Given the description of an element on the screen output the (x, y) to click on. 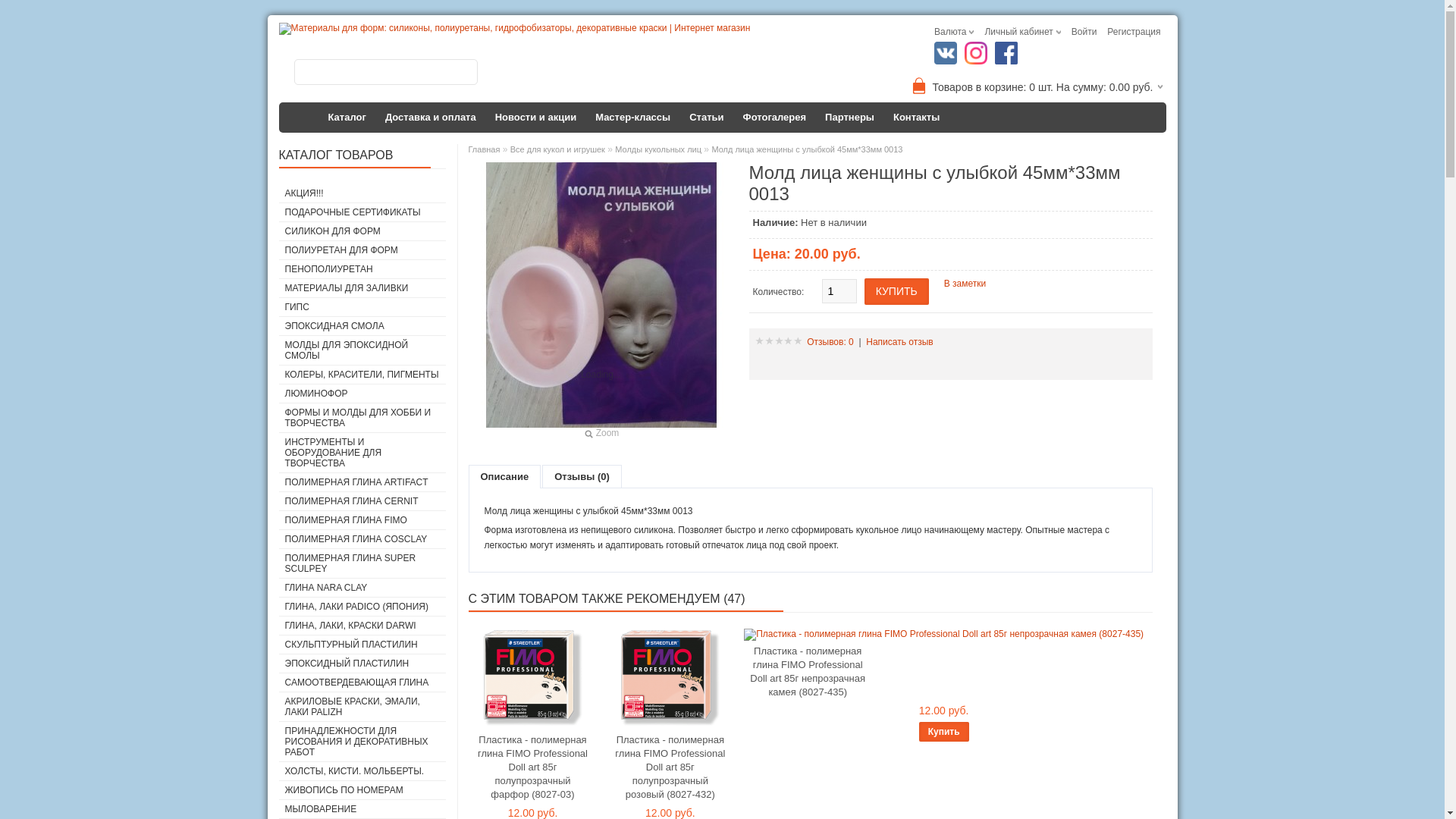
Zoom Element type: text (601, 300)
